Given the description of an element on the screen output the (x, y) to click on. 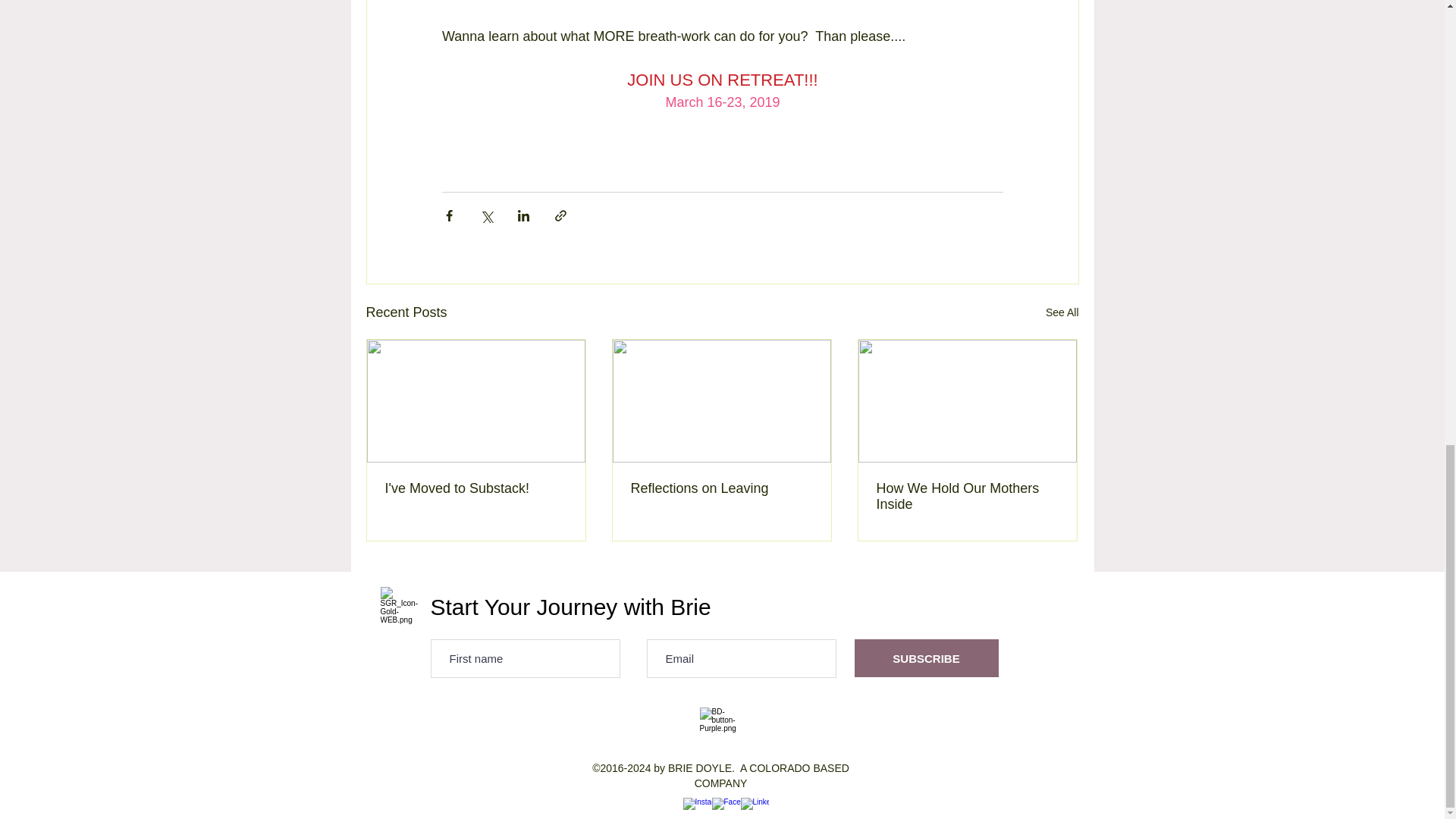
JOIN US ON RETREAT!!! (721, 79)
See All (1061, 312)
How We Hold Our Mothers Inside (967, 496)
I've Moved to Substack! (476, 488)
Reflections on Leaving (721, 488)
SUBSCRIBE (925, 658)
